Given the description of an element on the screen output the (x, y) to click on. 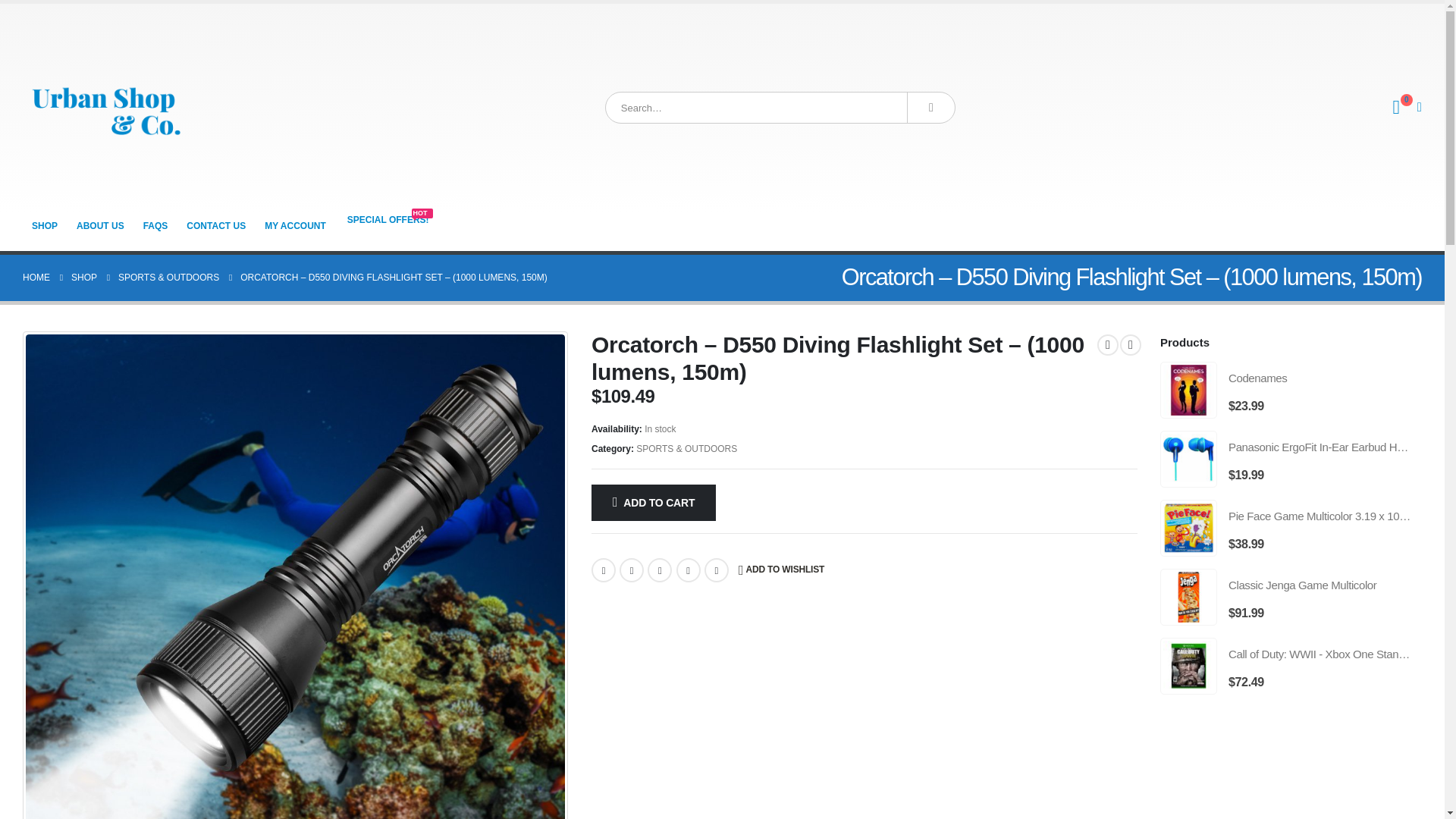
LinkedIn (659, 569)
ADD TO CART (653, 502)
FAQS (155, 225)
HOME (36, 277)
Email (716, 569)
D550 1 (388, 219)
Go to Home Page (99, 225)
ADD TO WISHLIST (36, 277)
MY ACCOUNT (781, 569)
Twitter (295, 225)
SHOP (631, 569)
SHOP (84, 277)
URBAN SHOP Co - Global E-Commerce Store (44, 225)
